Given the description of an element on the screen output the (x, y) to click on. 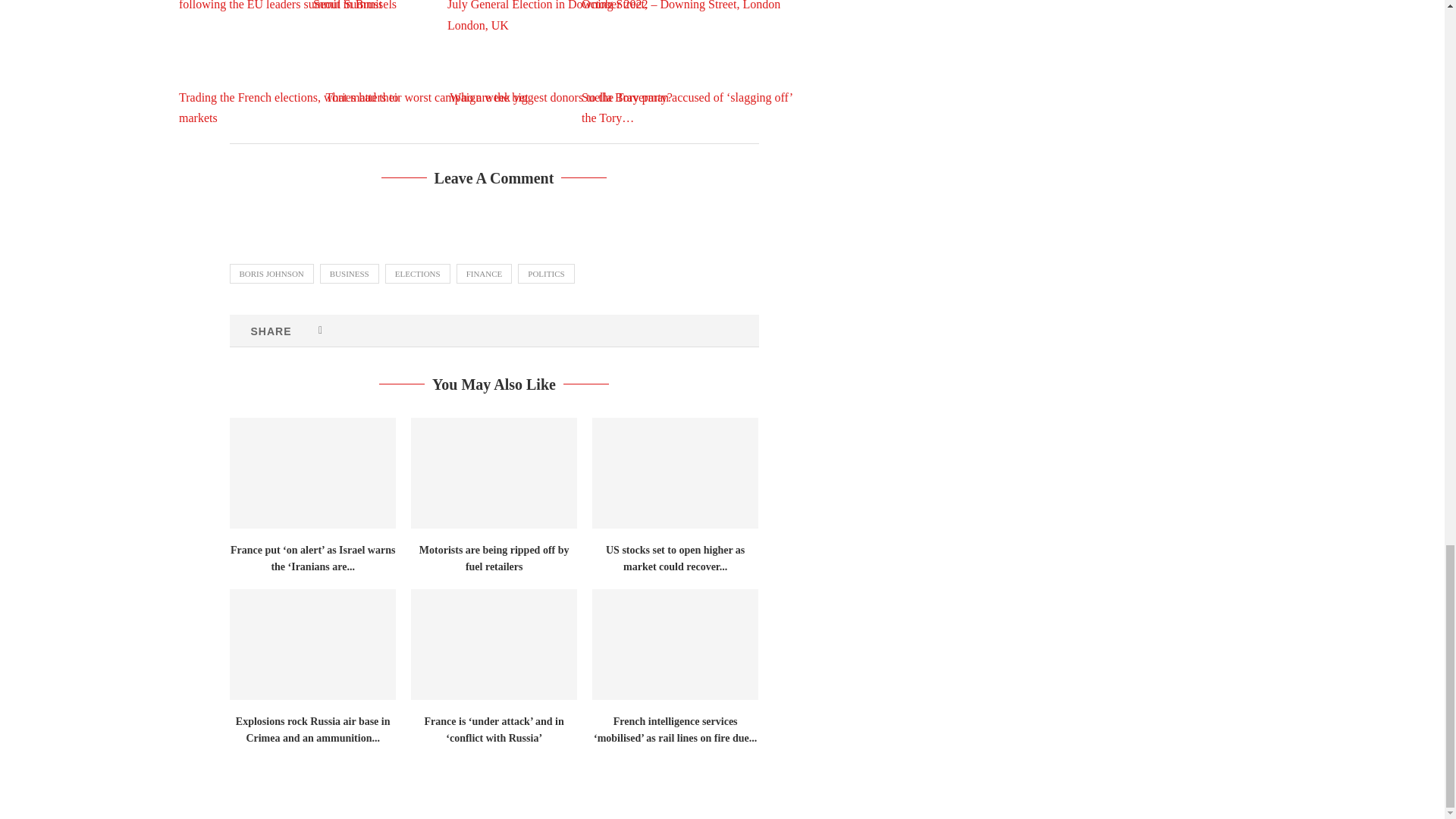
Motorists are being ripped off by fuel retailers (722, 61)
